Given the description of an element on the screen output the (x, y) to click on. 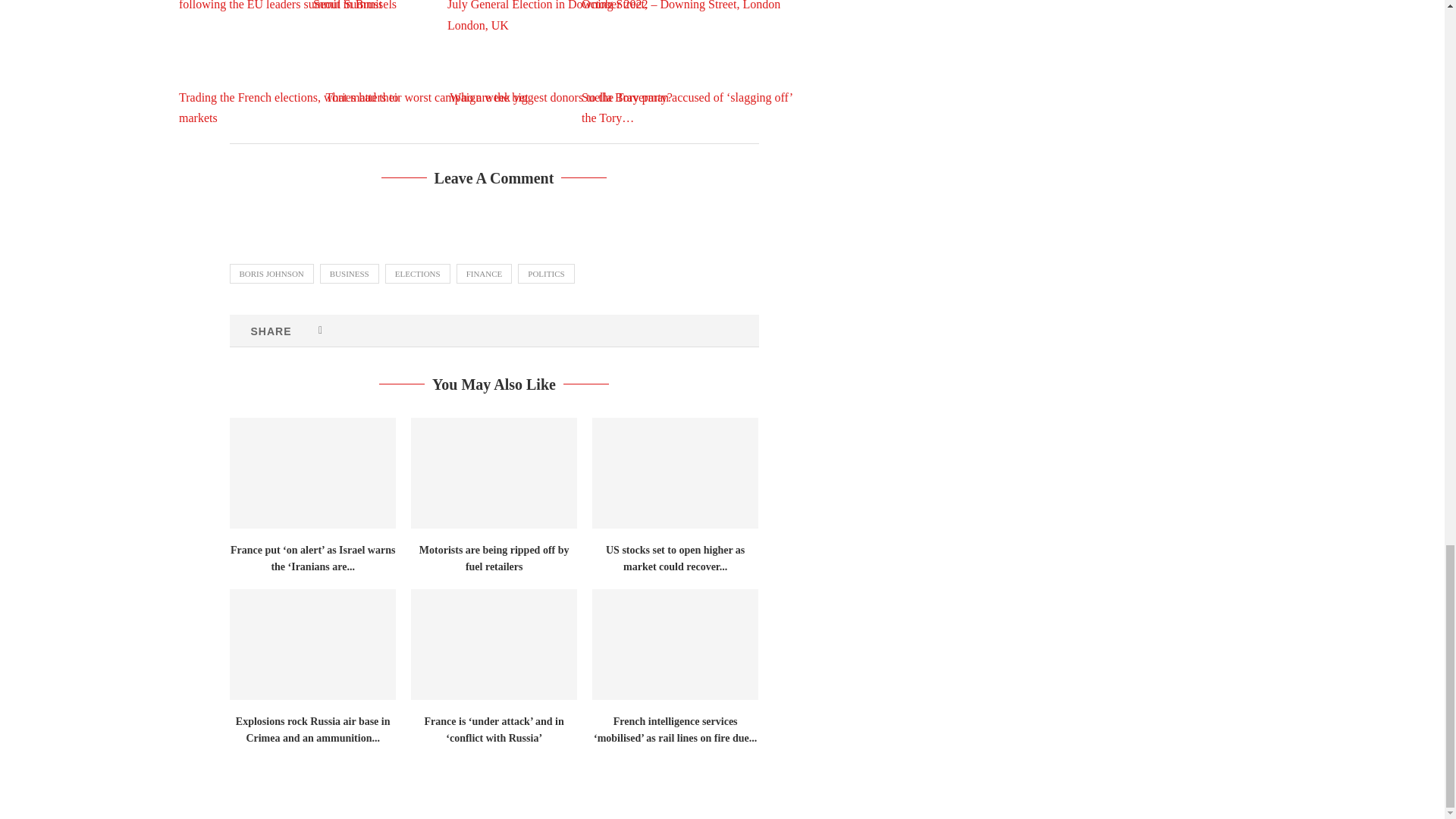
Motorists are being ripped off by fuel retailers (722, 61)
